Given the description of an element on the screen output the (x, y) to click on. 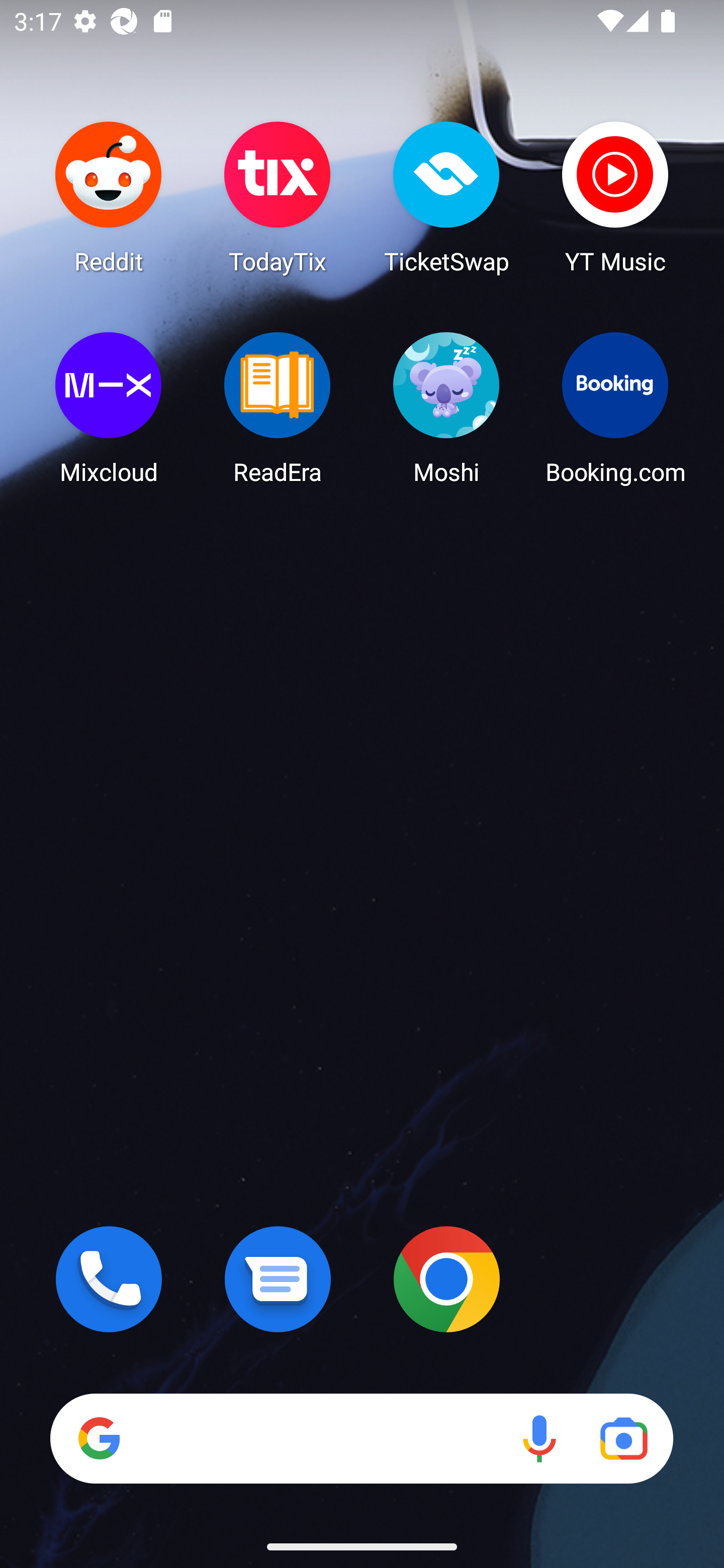
Reddit (108, 196)
TodayTix (277, 196)
TicketSwap (445, 196)
YT Music (615, 196)
Mixcloud (108, 407)
ReadEra (277, 407)
Moshi (445, 407)
Booking.com (615, 407)
Phone (108, 1279)
Messages (277, 1279)
Chrome (446, 1279)
Search Voice search Google Lens (361, 1438)
Voice search (539, 1438)
Google Lens (623, 1438)
